Given the description of an element on the screen output the (x, y) to click on. 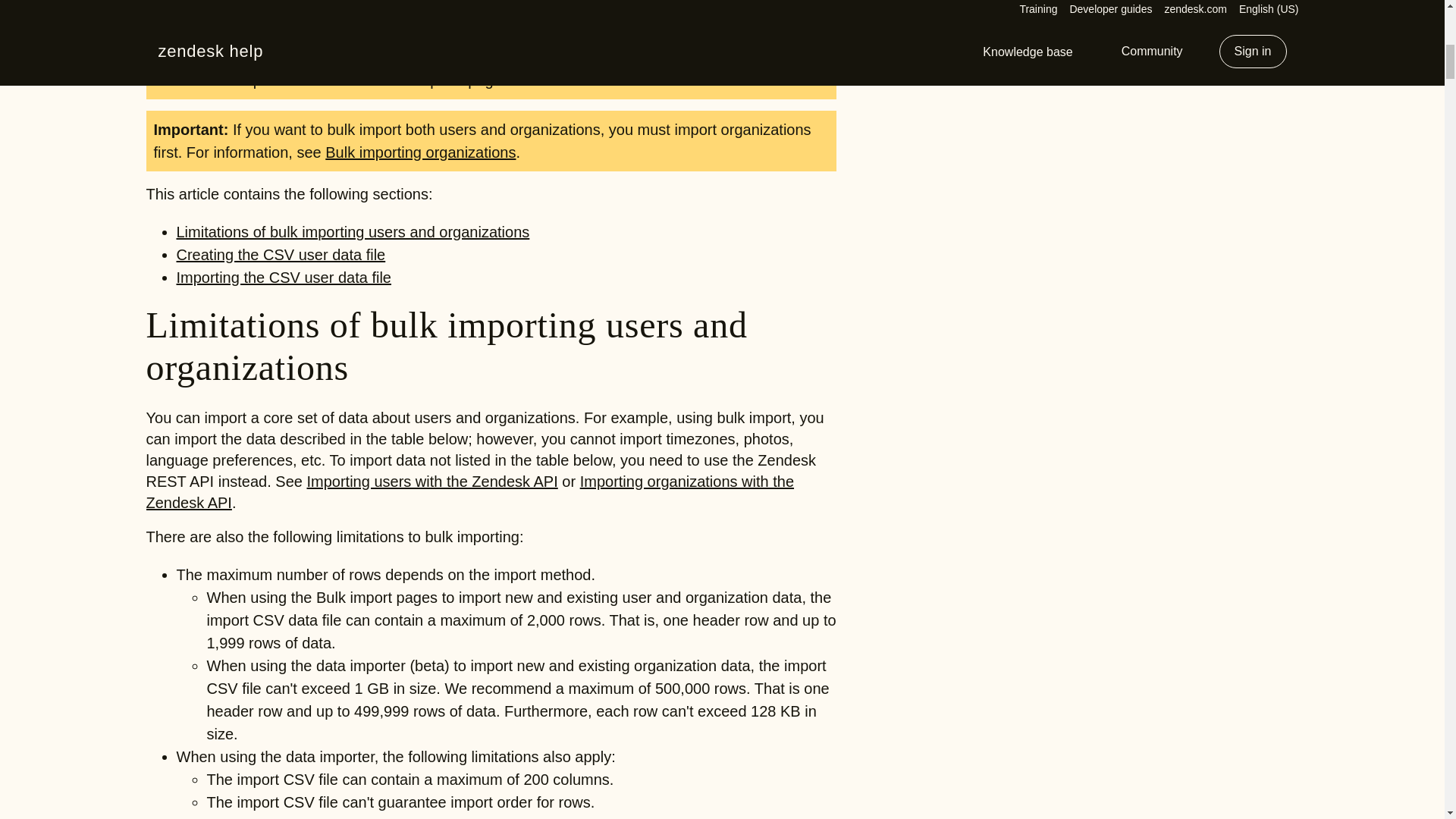
Limitations of bulk importing users and organizations (352, 231)
Creating the CSV user data file (280, 254)
Bulk importing organizations (419, 152)
Zendesk Customer Support (672, 57)
